Given the description of an element on the screen output the (x, y) to click on. 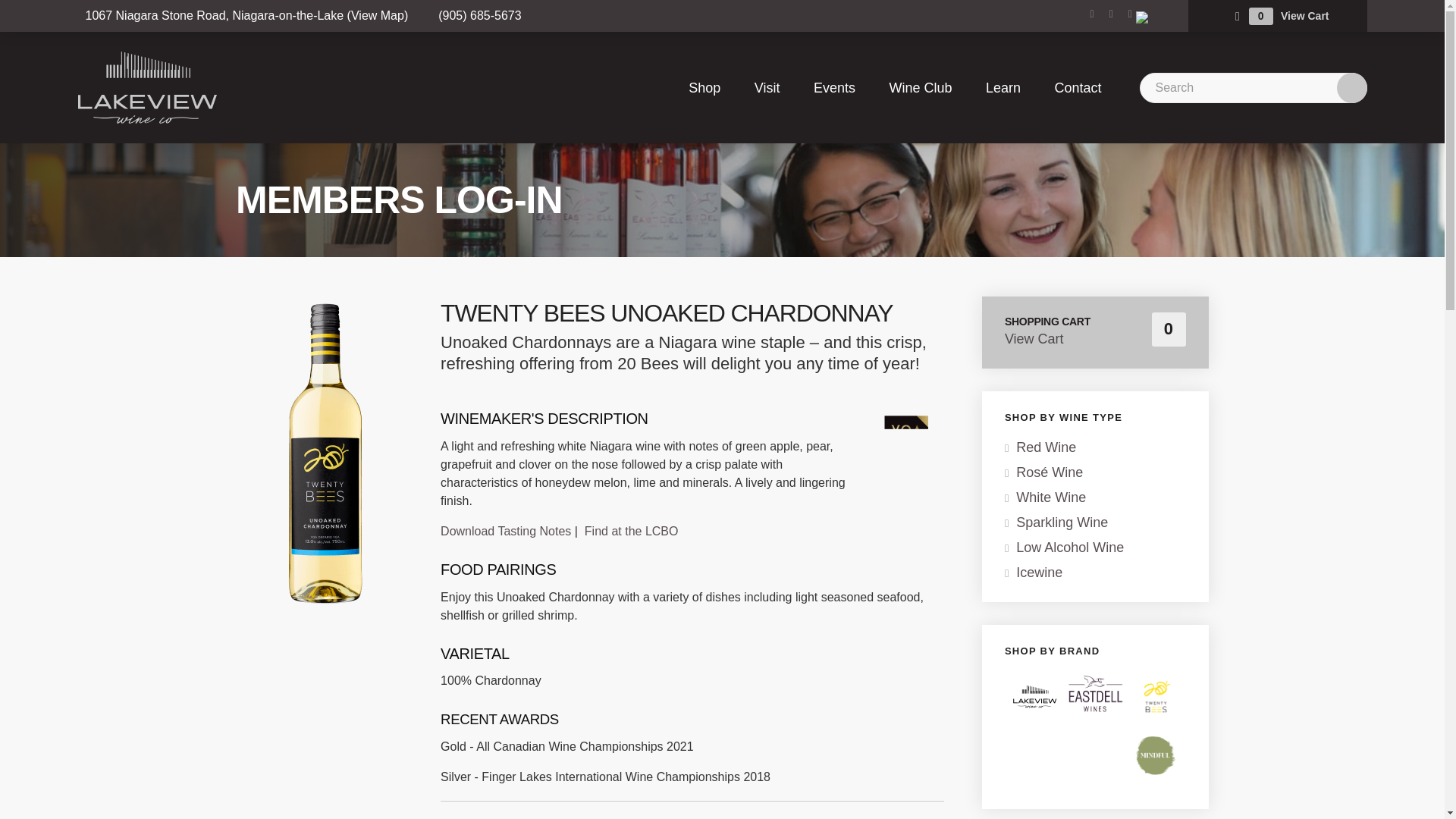
Shop (711, 87)
Lakeview Wine Club (919, 87)
Events Listing (833, 87)
View Map (377, 15)
Shopping Cart (1237, 16)
Online Wine Shop (711, 87)
Search (1351, 87)
Search (1252, 87)
Find at the LCBO (631, 530)
Wine Club (919, 87)
View Cart (1305, 15)
Visit (766, 87)
Contact (1069, 87)
Download Tasting Notes (505, 530)
Events (833, 87)
